Given the description of an element on the screen output the (x, y) to click on. 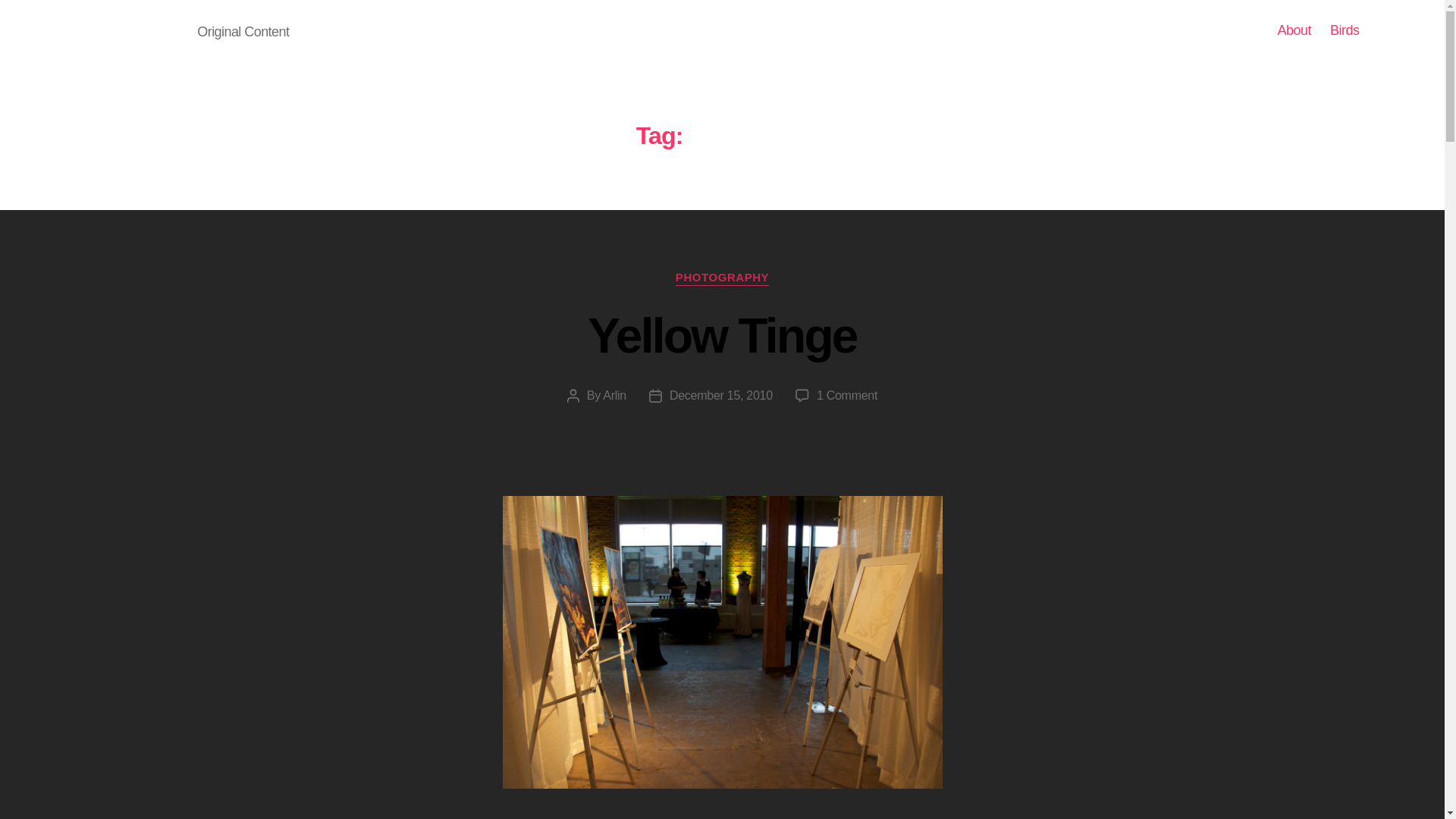
PHOTOGRAPHY (846, 395)
Arlin (721, 278)
About (614, 395)
Birds (1293, 30)
December 15, 2010 (1344, 30)
Arlin Makes (721, 395)
Yellow Tinge (131, 30)
